Given the description of an element on the screen output the (x, y) to click on. 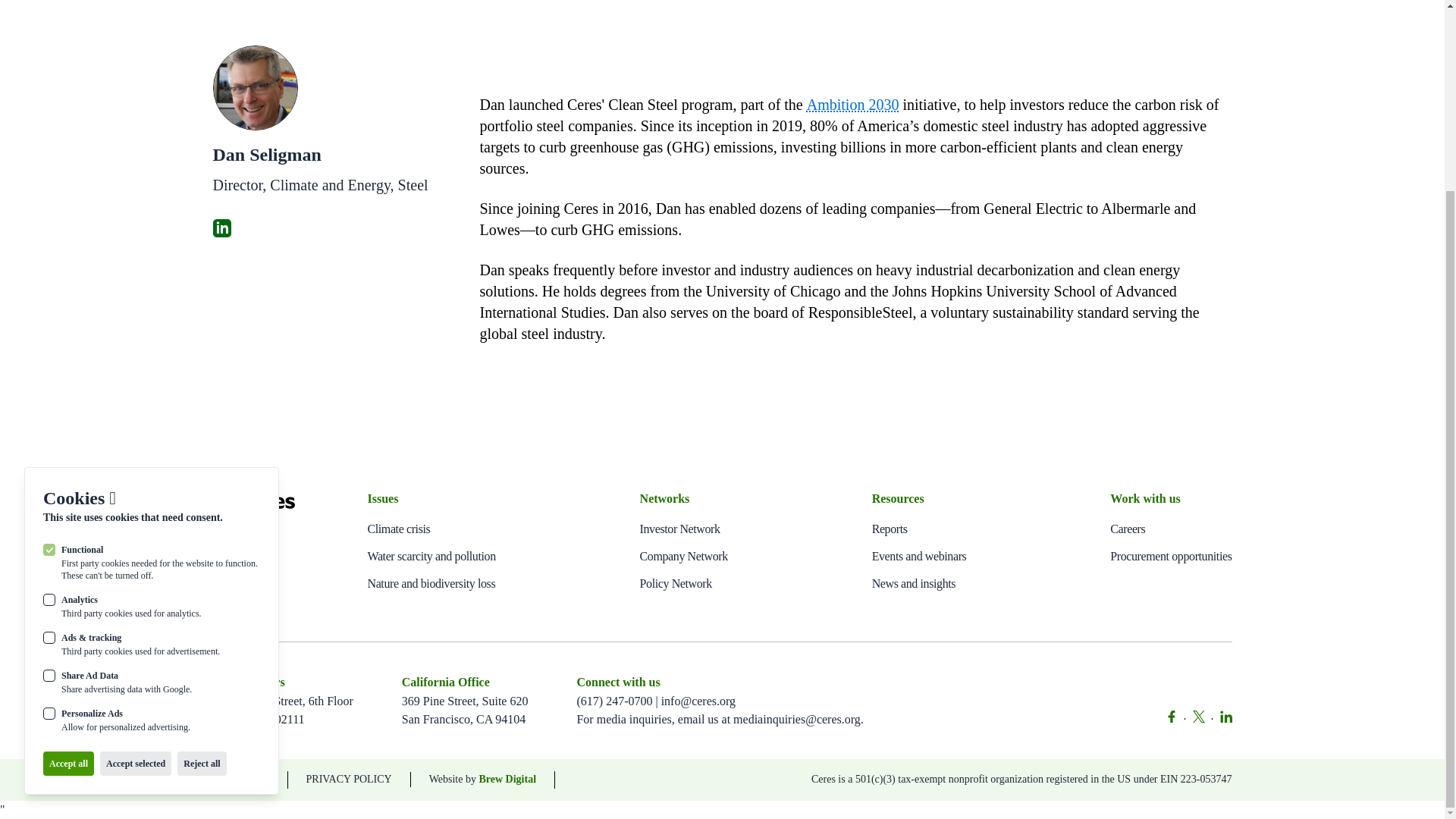
Reject all (201, 524)
on (49, 310)
on (49, 474)
on (49, 360)
Accept all (68, 524)
on (49, 436)
on (49, 398)
Accept selected (135, 524)
